Given the description of an element on the screen output the (x, y) to click on. 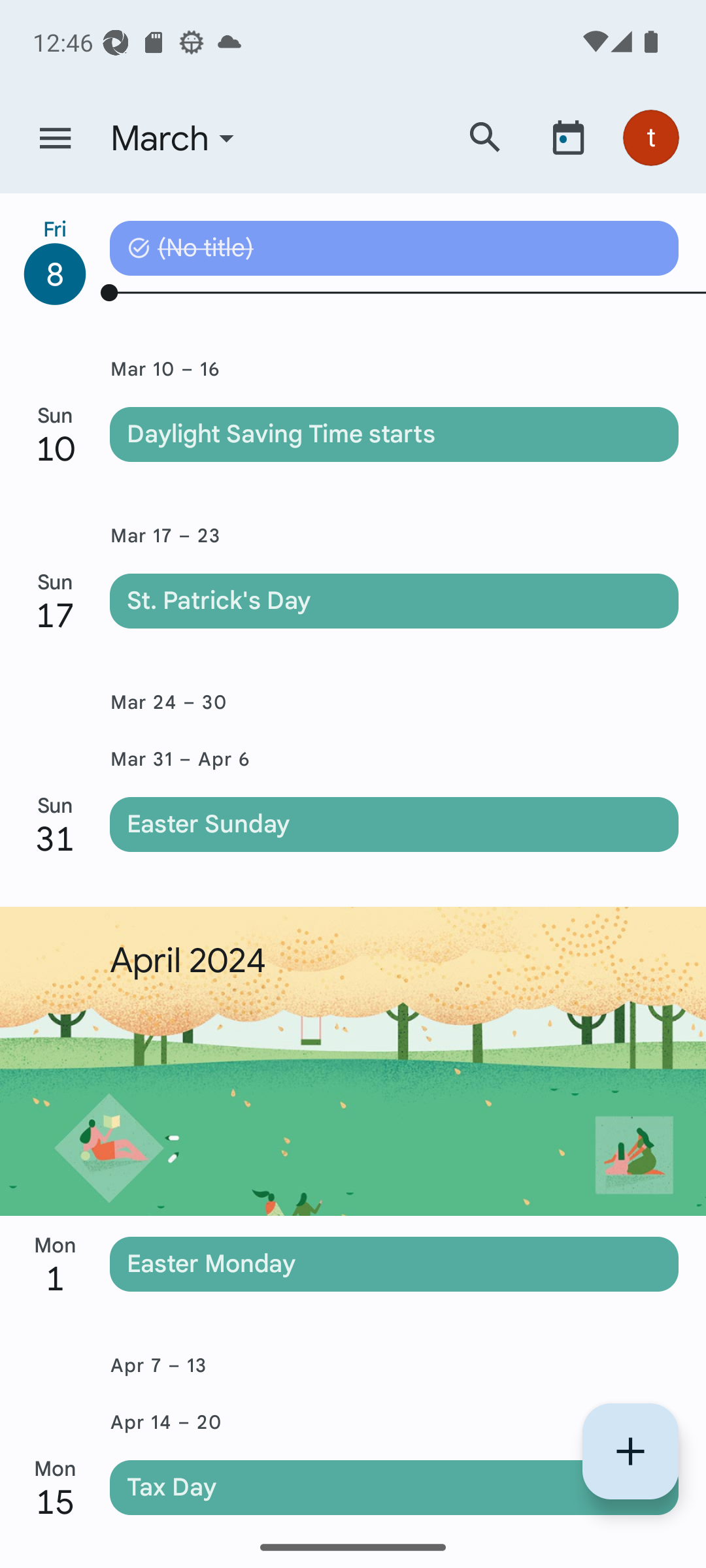
Show Calendar List and Settings drawer (55, 138)
March, Show date picker March (270, 138)
Search (485, 137)
Jump to Today (567, 137)
Create new event and more (630, 1451)
